Given the description of an element on the screen output the (x, y) to click on. 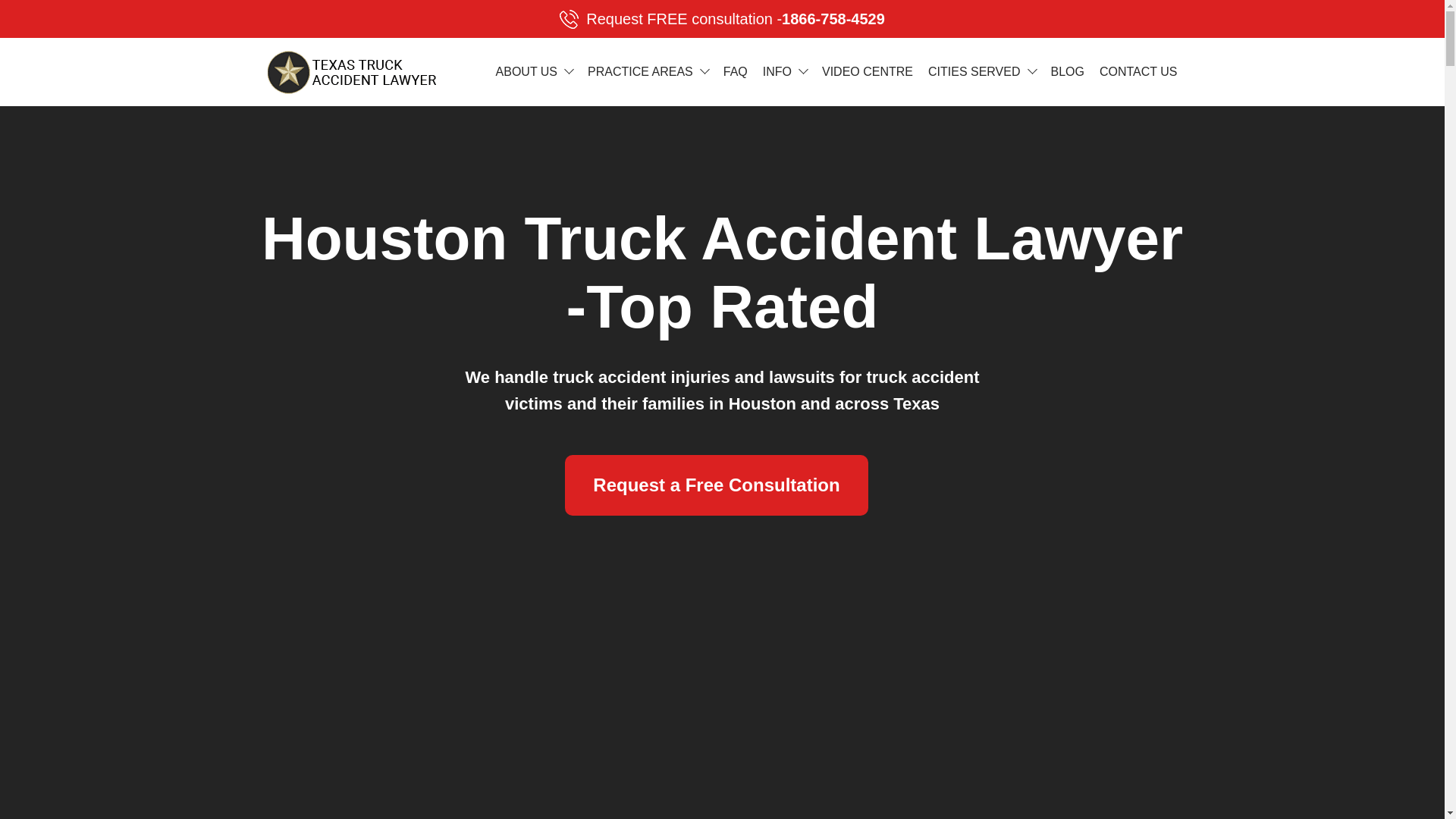
PRACTICE AREAS (640, 71)
ABOUT US (722, 18)
